Given the description of an element on the screen output the (x, y) to click on. 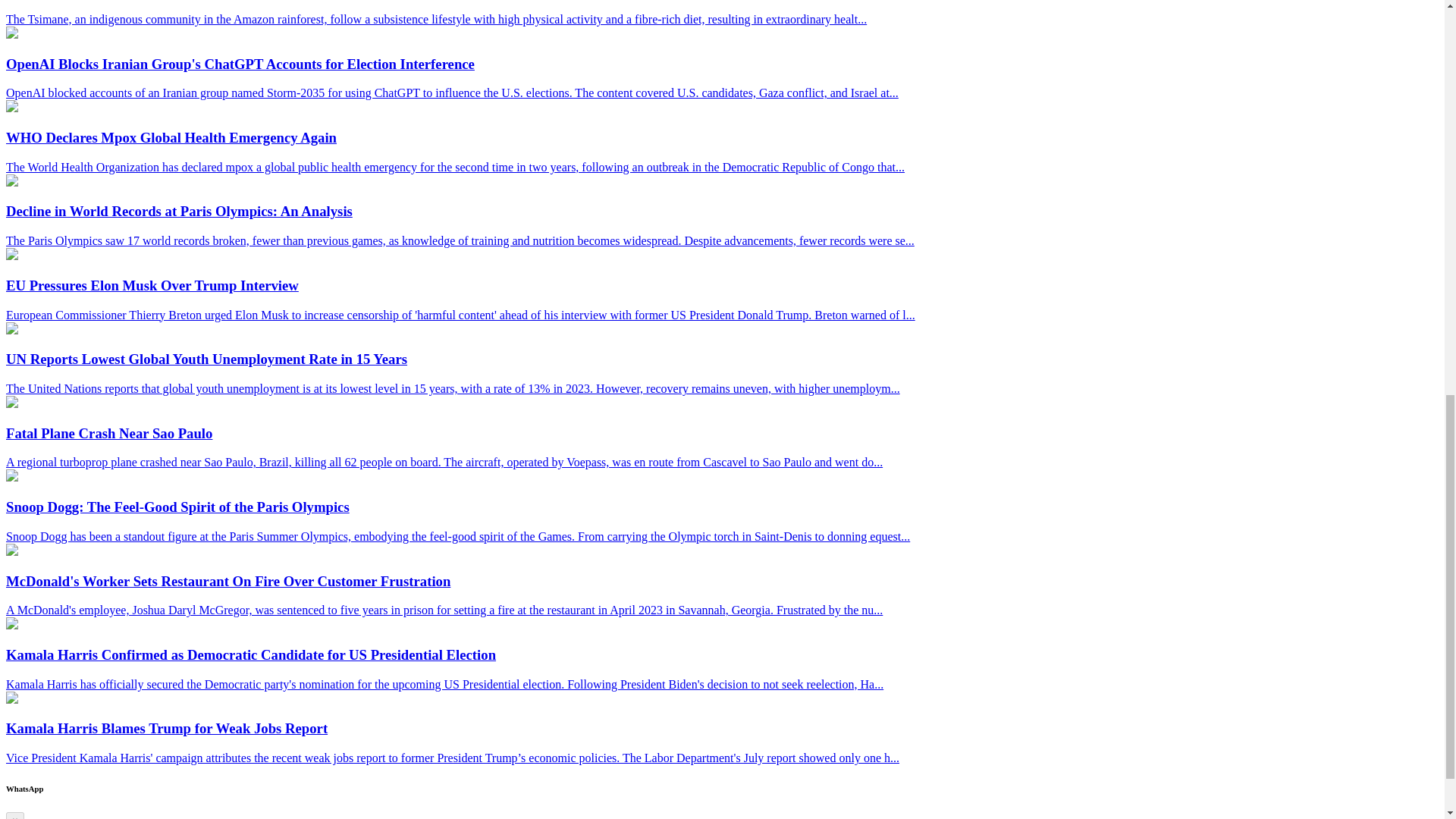
WHO Declares Mpox Global Health Emergency Again (11, 107)
Decline in World Records at Paris Olympics: An Analysis (11, 182)
EU Pressures Elon Musk Over Trump Interview (11, 255)
Snoop Dogg: The Feel-Good Spirit of the Paris Olympics (11, 477)
UN Reports Lowest Global Youth Unemployment Rate in 15 Years (11, 329)
Fatal Plane Crash Near Sao Paulo (11, 403)
